Given the description of an element on the screen output the (x, y) to click on. 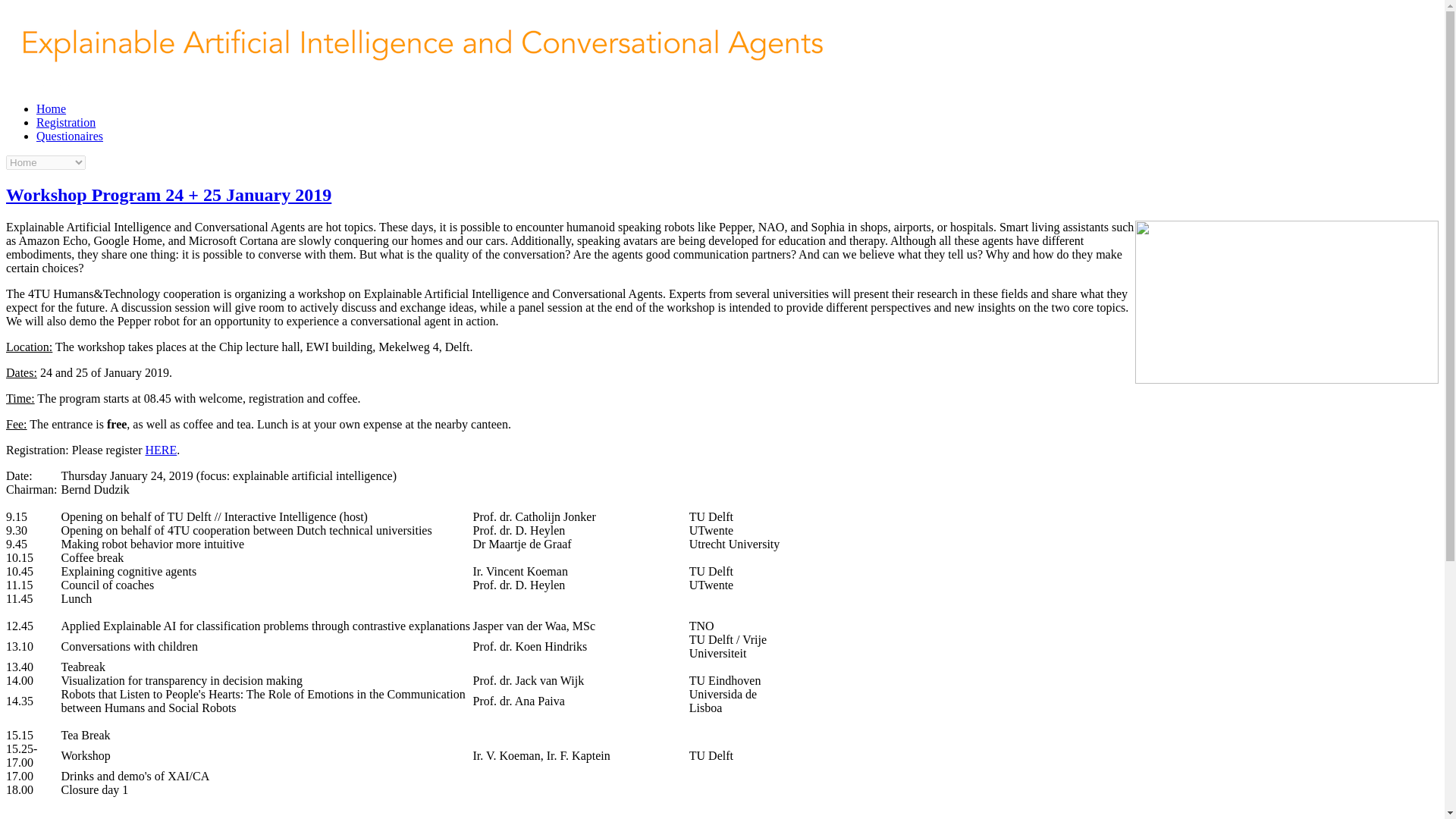
Home (50, 108)
Questionaires (69, 135)
HERE (161, 449)
Registration (66, 122)
Home (422, 82)
Registration (66, 122)
